Given the description of an element on the screen output the (x, y) to click on. 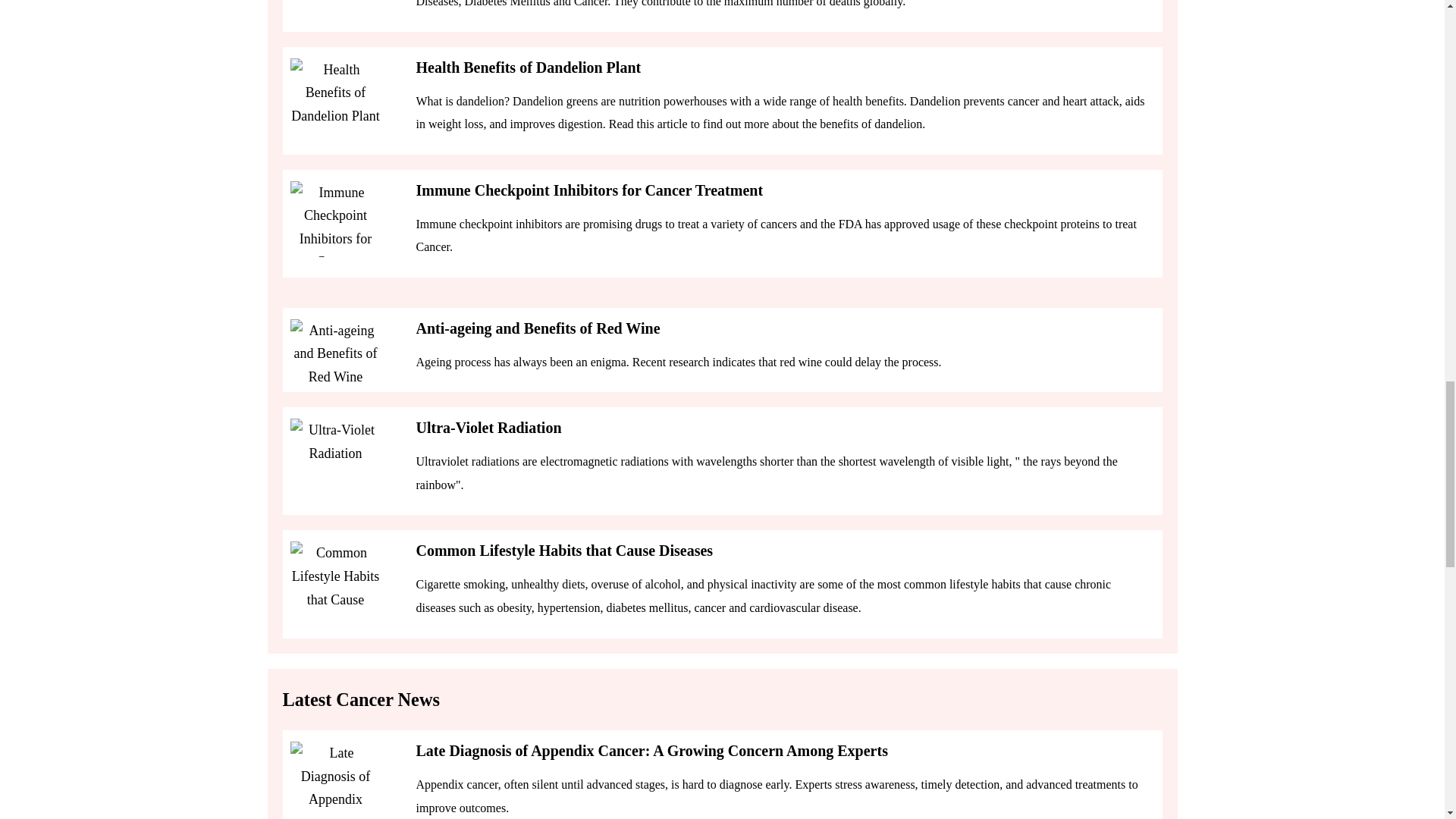
Health Benefits of Dandelion Plant (527, 67)
